Given the description of an element on the screen output the (x, y) to click on. 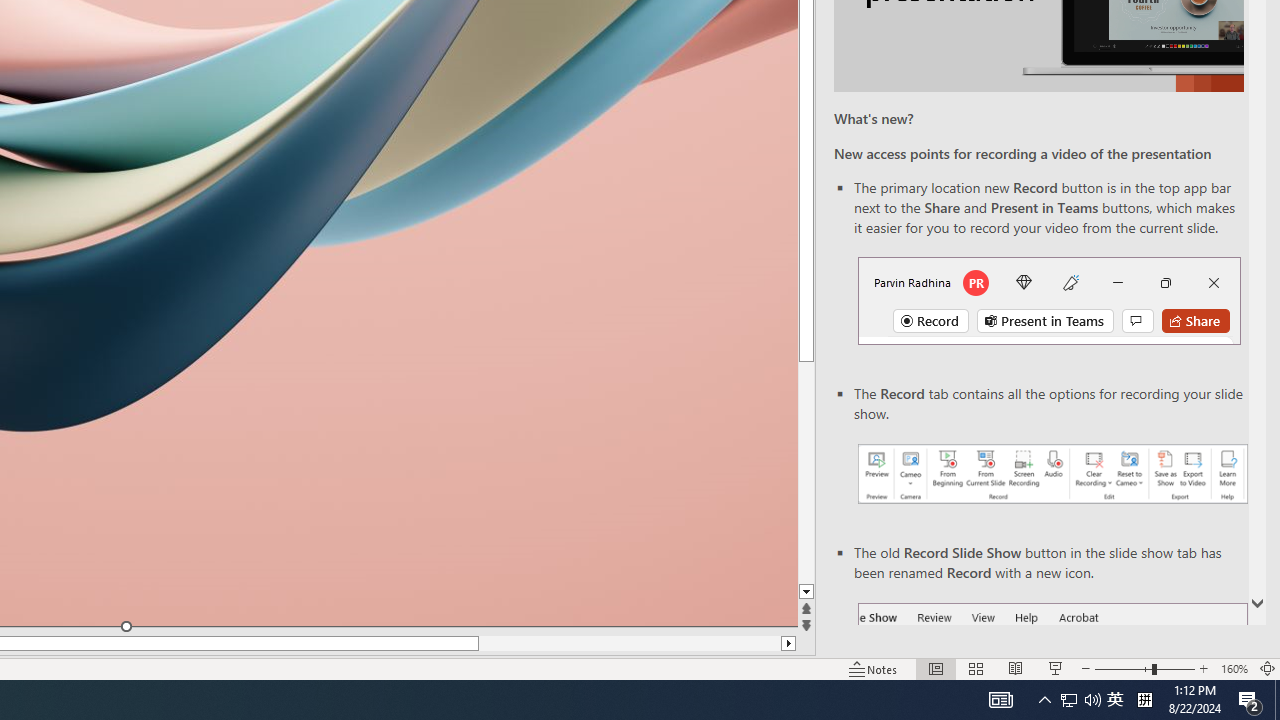
Zoom 160% (1234, 668)
Record your presentations screenshot one (1052, 473)
